Given the description of an element on the screen output the (x, y) to click on. 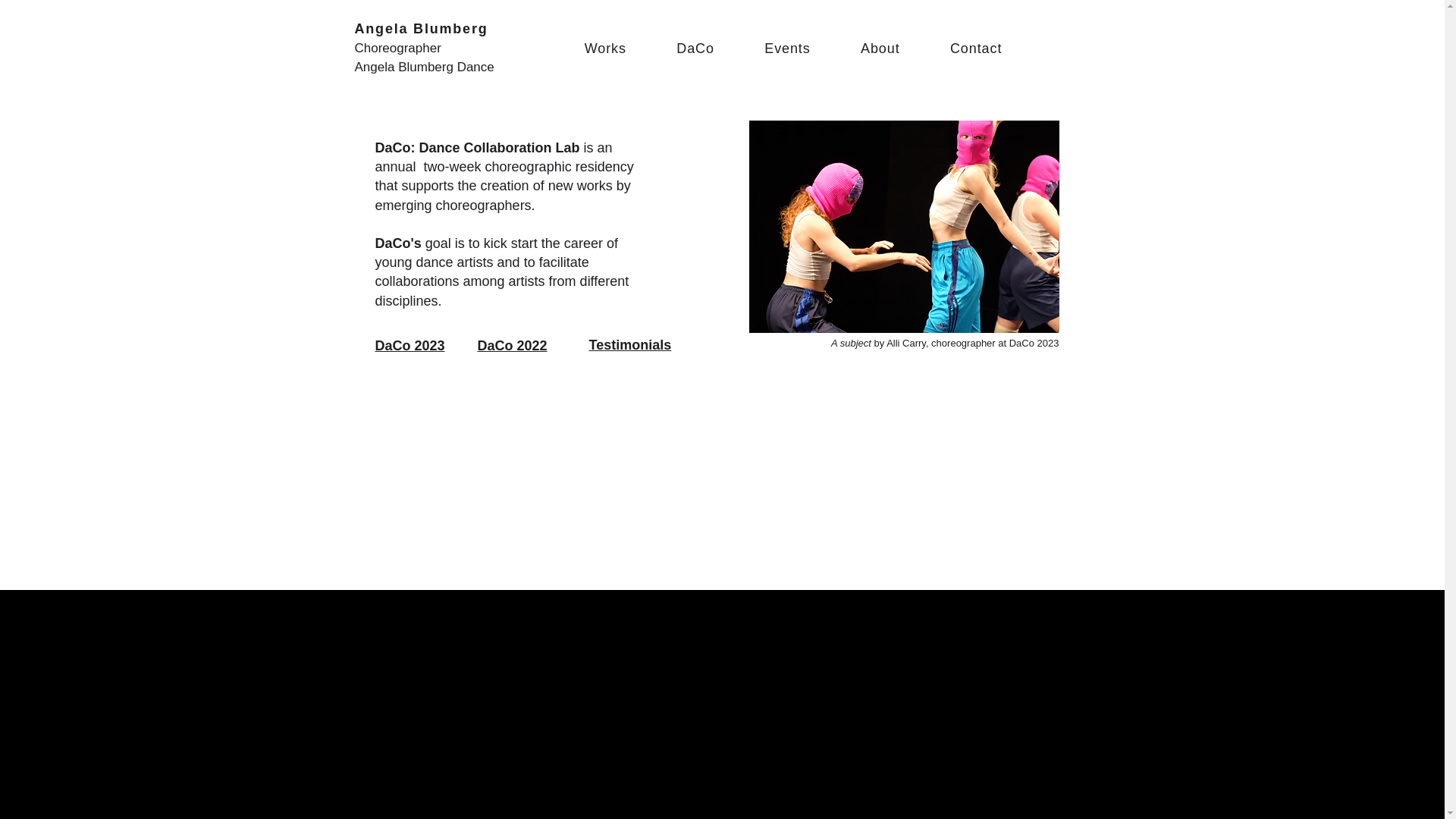
Testimonials (629, 344)
About (879, 48)
Works (605, 48)
DaCo 2023 (409, 345)
DaCo (694, 48)
DaCo 2022 (512, 345)
Contact (976, 48)
Events (787, 48)
